Given the description of an element on the screen output the (x, y) to click on. 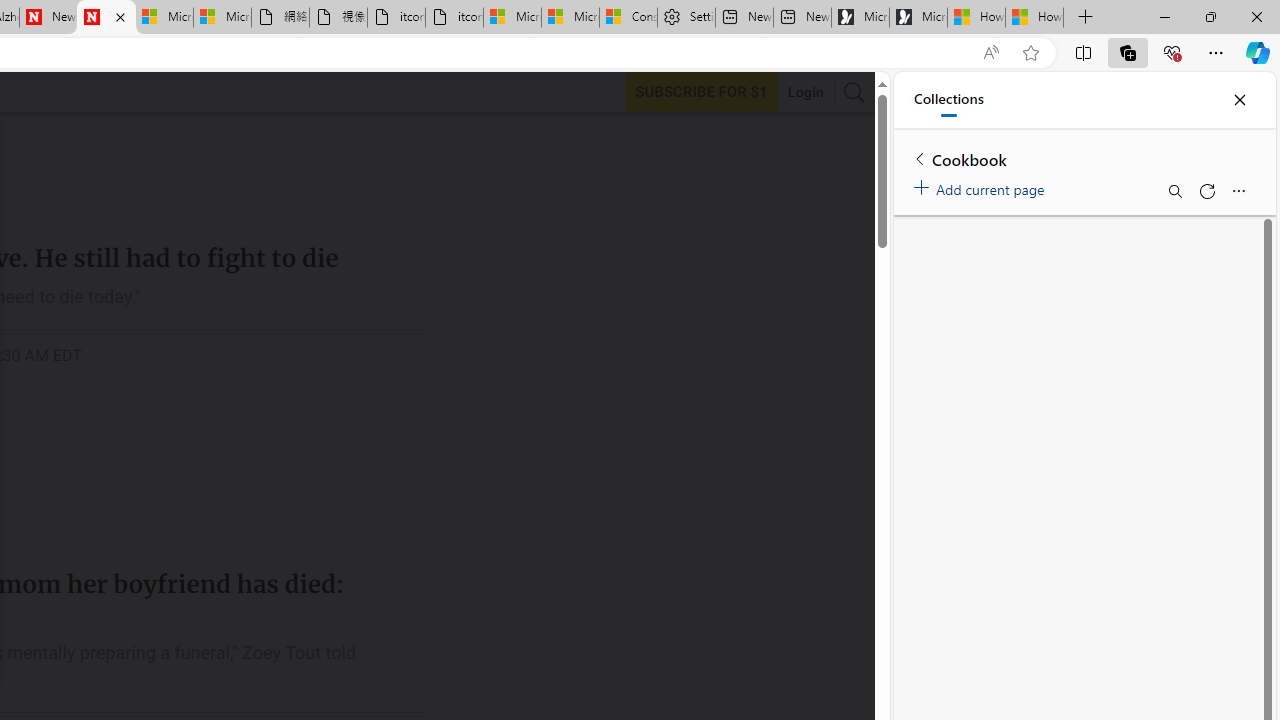
More options menu (1238, 190)
Illness news & latest pictures from Newsweek.com (106, 17)
Subscribe to our service (701, 91)
Microsoft Start Gaming (918, 17)
New tab (802, 17)
Microsoft account | Privacy (570, 17)
Consumer Health Data Privacy Policy (628, 17)
Newsweek - News, Analysis, Politics, Business, Technology (48, 17)
